Given the description of an element on the screen output the (x, y) to click on. 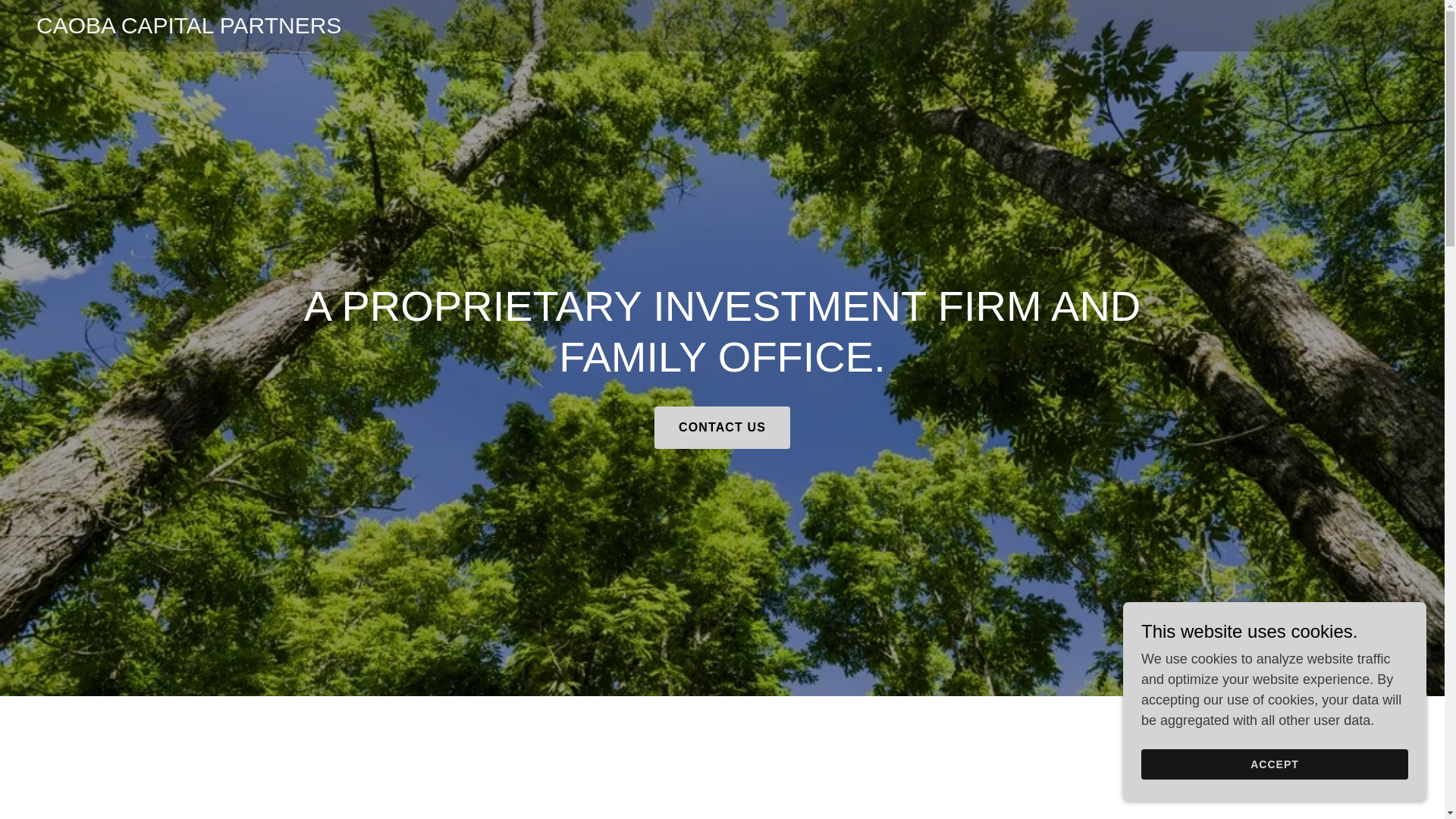
CONTACT US (721, 427)
CAOBA CAPITAL PARTNERS (188, 28)
ACCEPT (1274, 764)
CAOBA CAPITAL PARTNERS (188, 28)
